Given the description of an element on the screen output the (x, y) to click on. 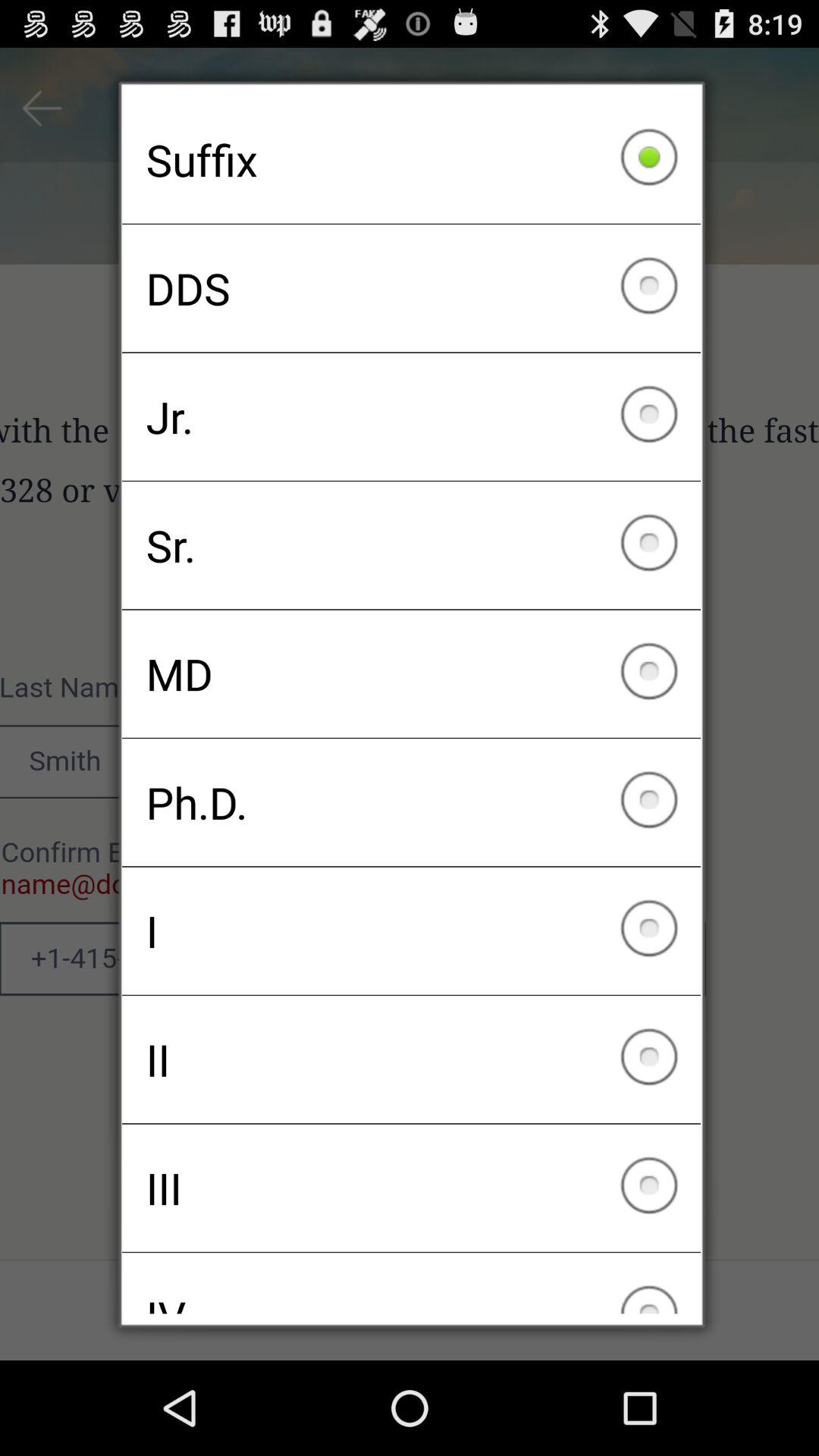
turn on i (411, 930)
